Given the description of an element on the screen output the (x, y) to click on. 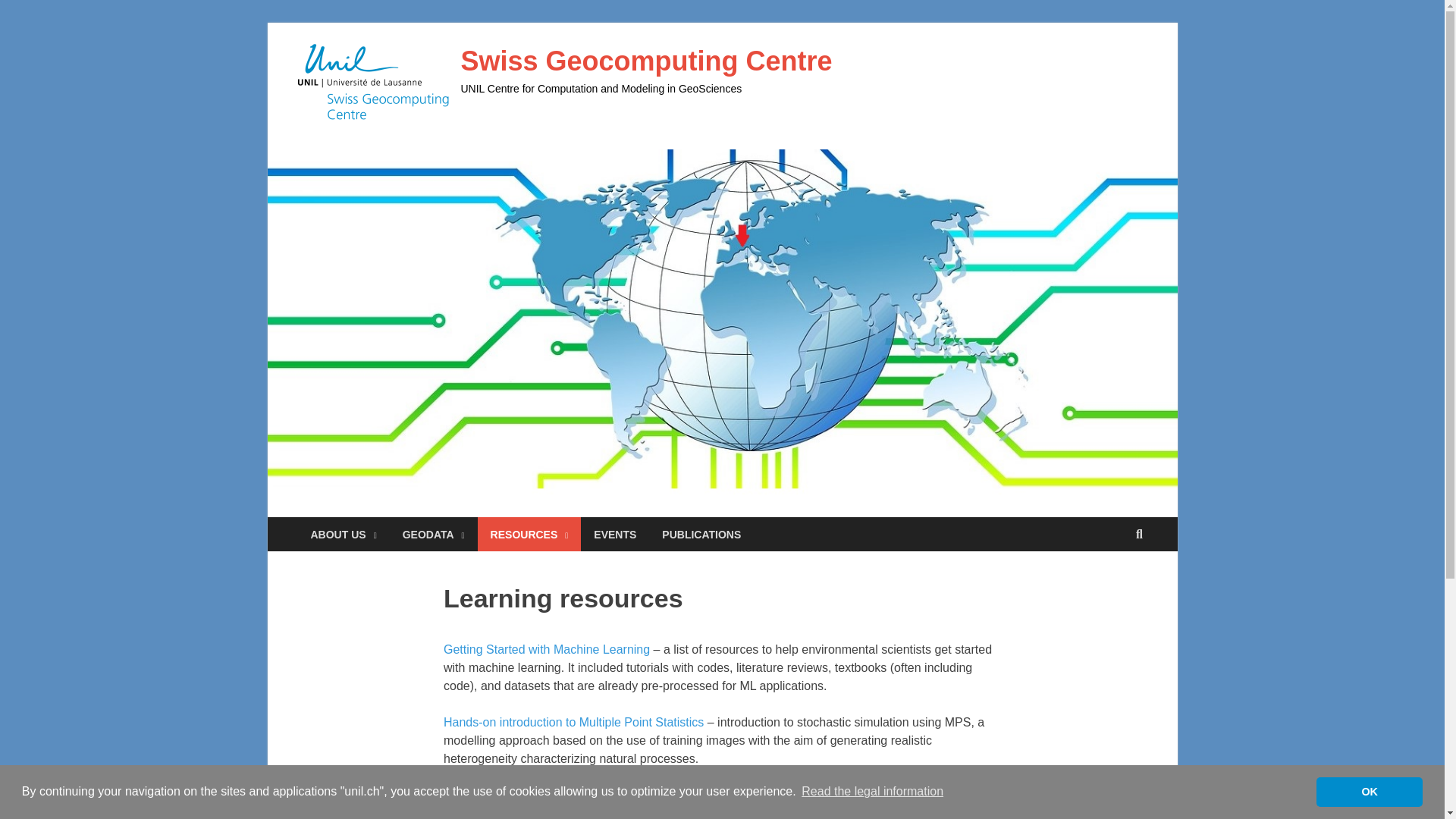
OK (1369, 791)
Swiss Geocomputing Centre (646, 60)
ABOUT US (342, 533)
GEODATA (433, 533)
Read the legal information (871, 791)
PUBLICATIONS (701, 533)
RESOURCES (528, 533)
EVENTS (614, 533)
